Given the description of an element on the screen output the (x, y) to click on. 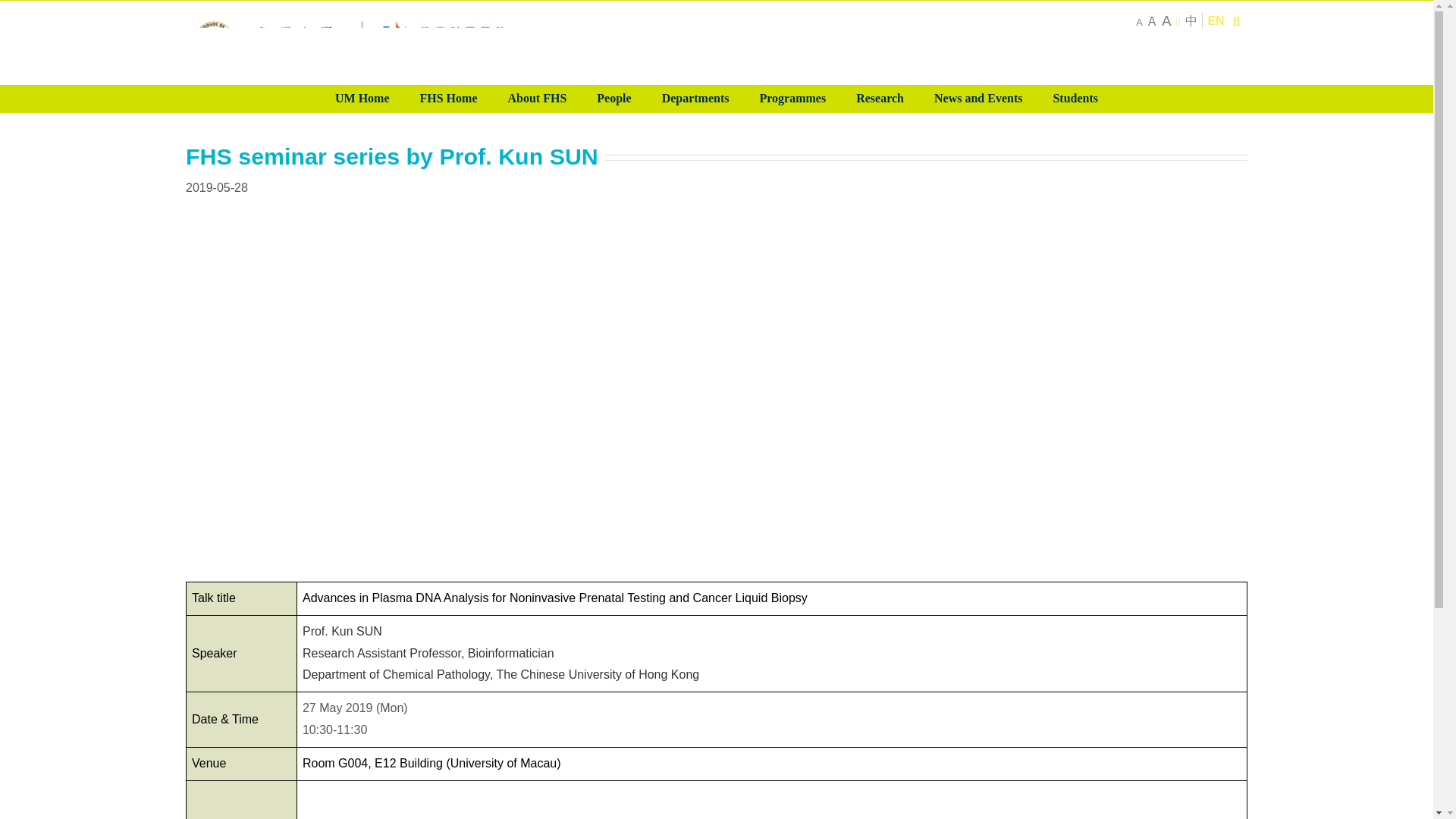
People (613, 98)
FHS Home (448, 98)
About FHS (537, 98)
UM Home (362, 98)
EN (1215, 20)
